Given the description of an element on the screen output the (x, y) to click on. 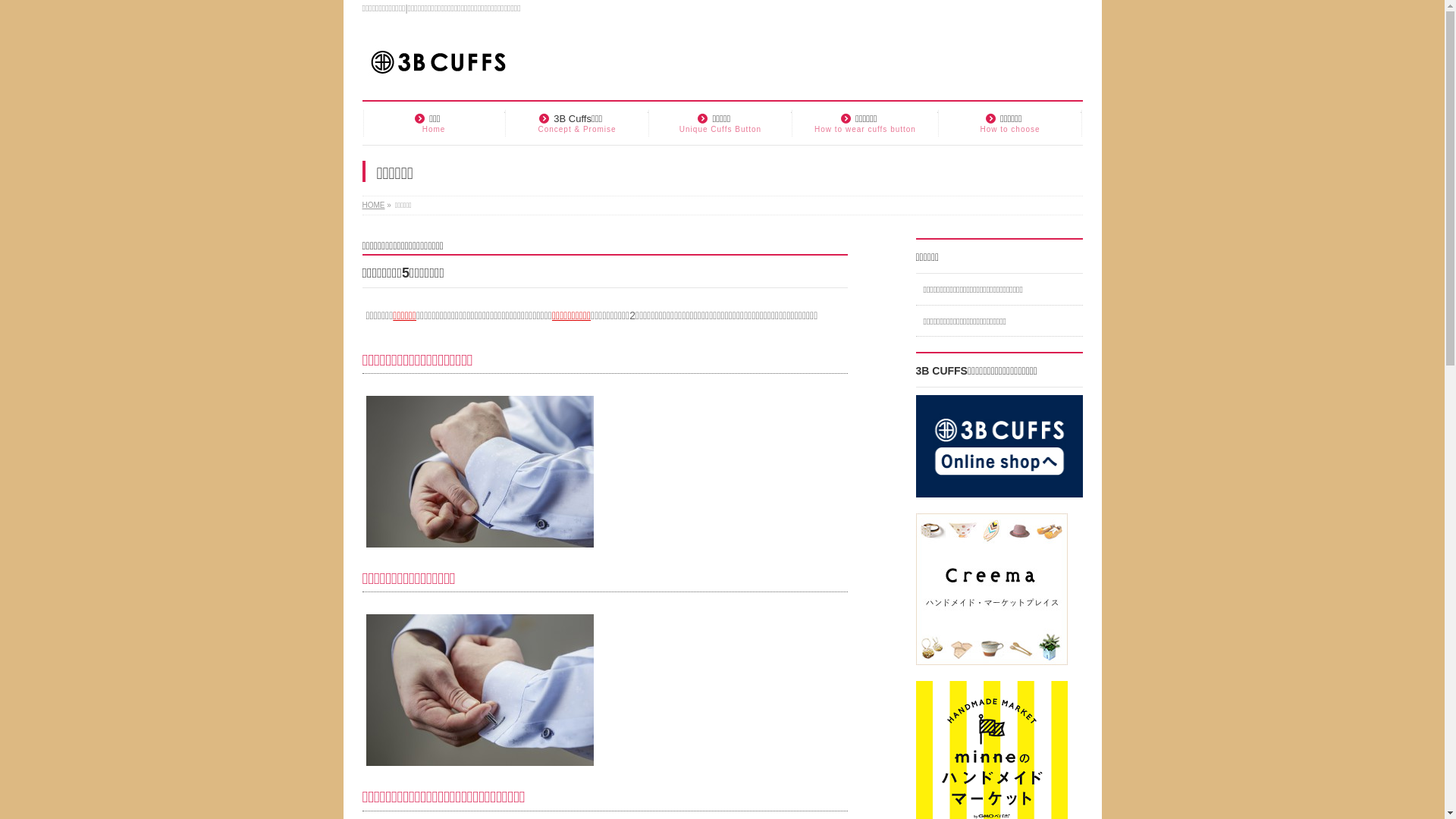
3B CUFFS Online shop Element type: hover (999, 489)
HOME Element type: text (373, 204)
